Given the description of an element on the screen output the (x, y) to click on. 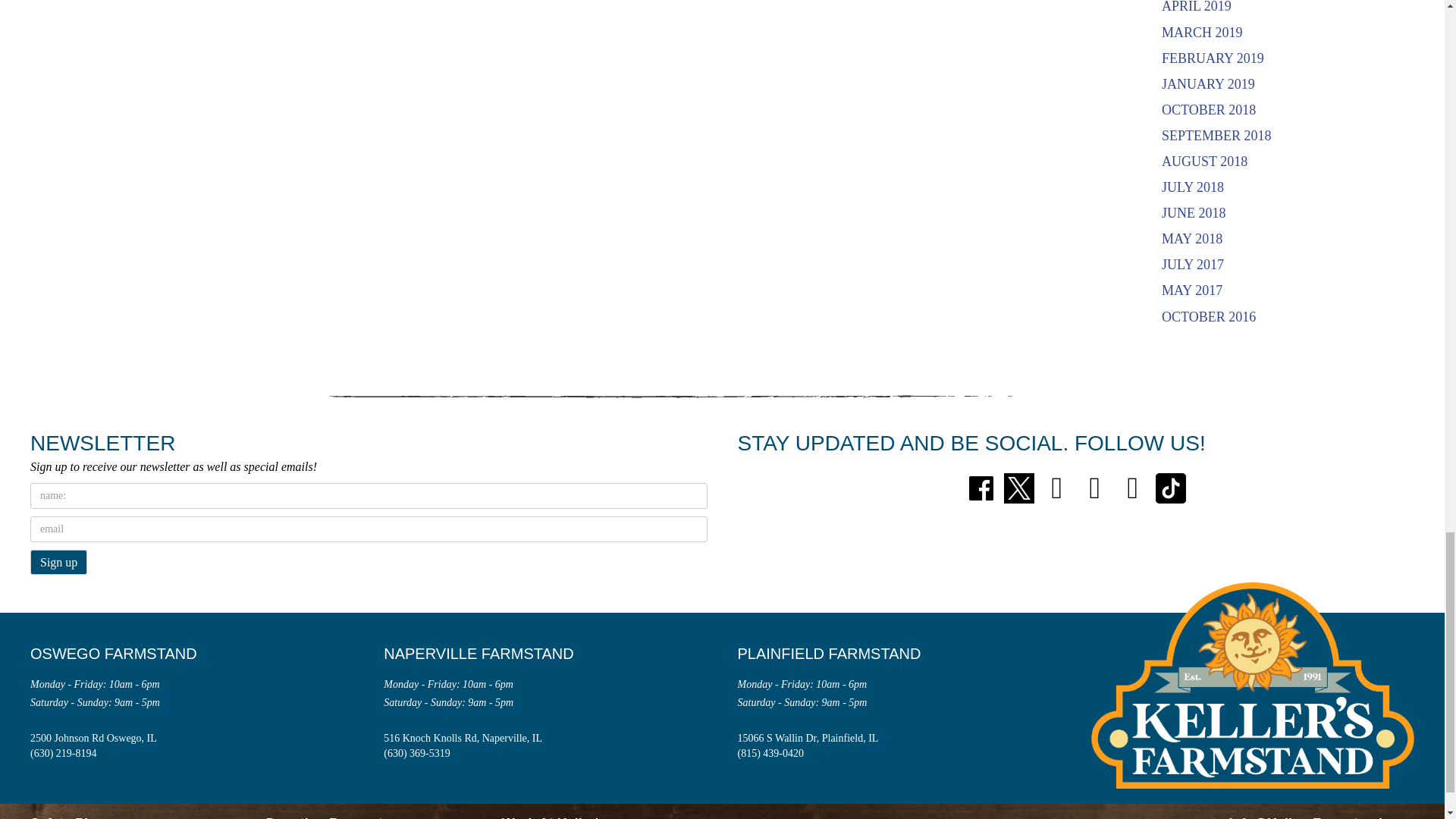
Sign up (58, 561)
Plainfield Farmstand (839, 653)
Oswego Farmstand (124, 653)
X-black copy (1018, 488)
tiktok-share-icon-black-logo-29FFD062A0-seeklogo.com (1171, 488)
Naperville Farmstand (489, 653)
